Given the description of an element on the screen output the (x, y) to click on. 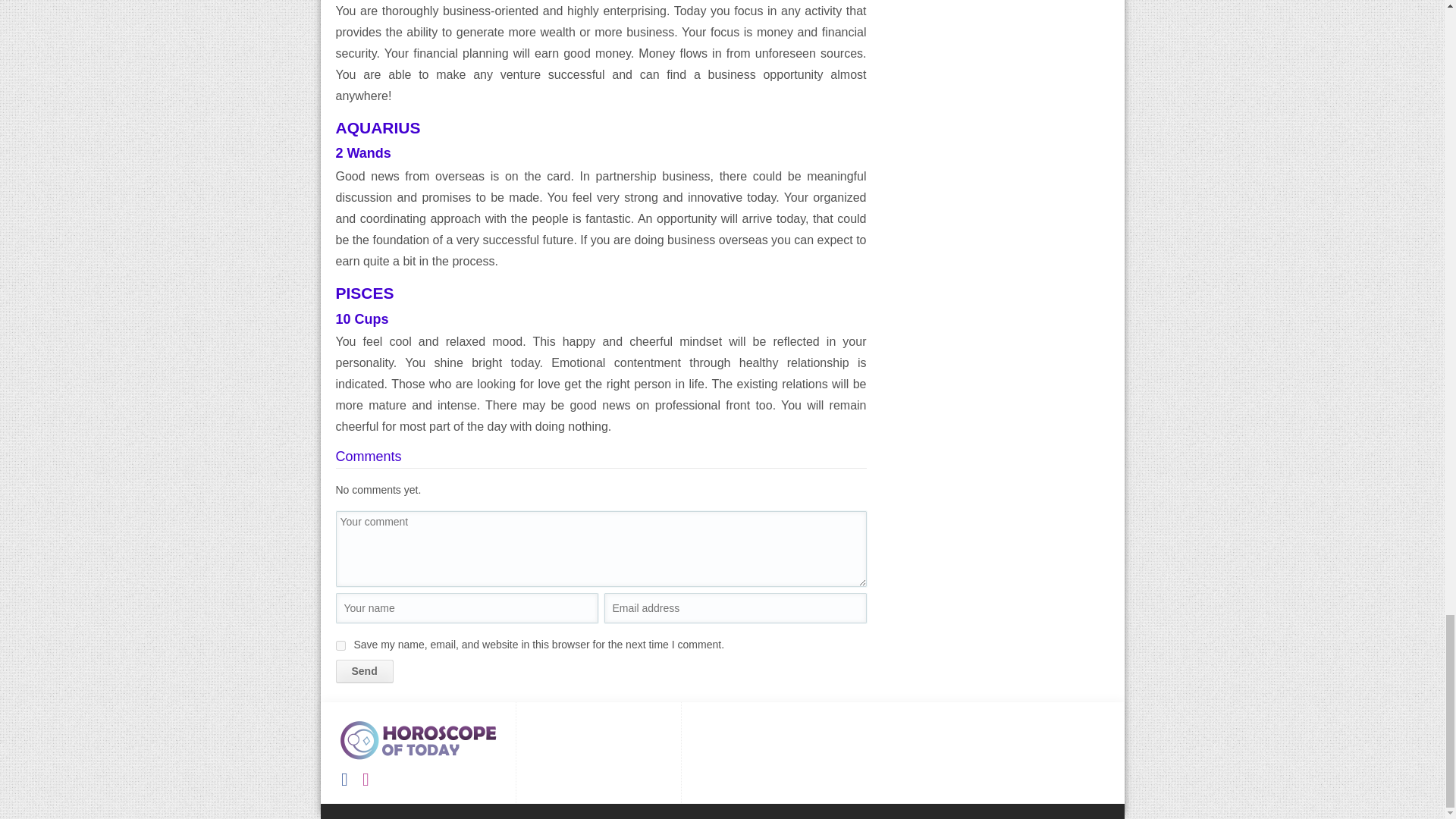
yes (339, 645)
Send (363, 671)
HoroscopeOfToday (418, 739)
